Given the description of an element on the screen output the (x, y) to click on. 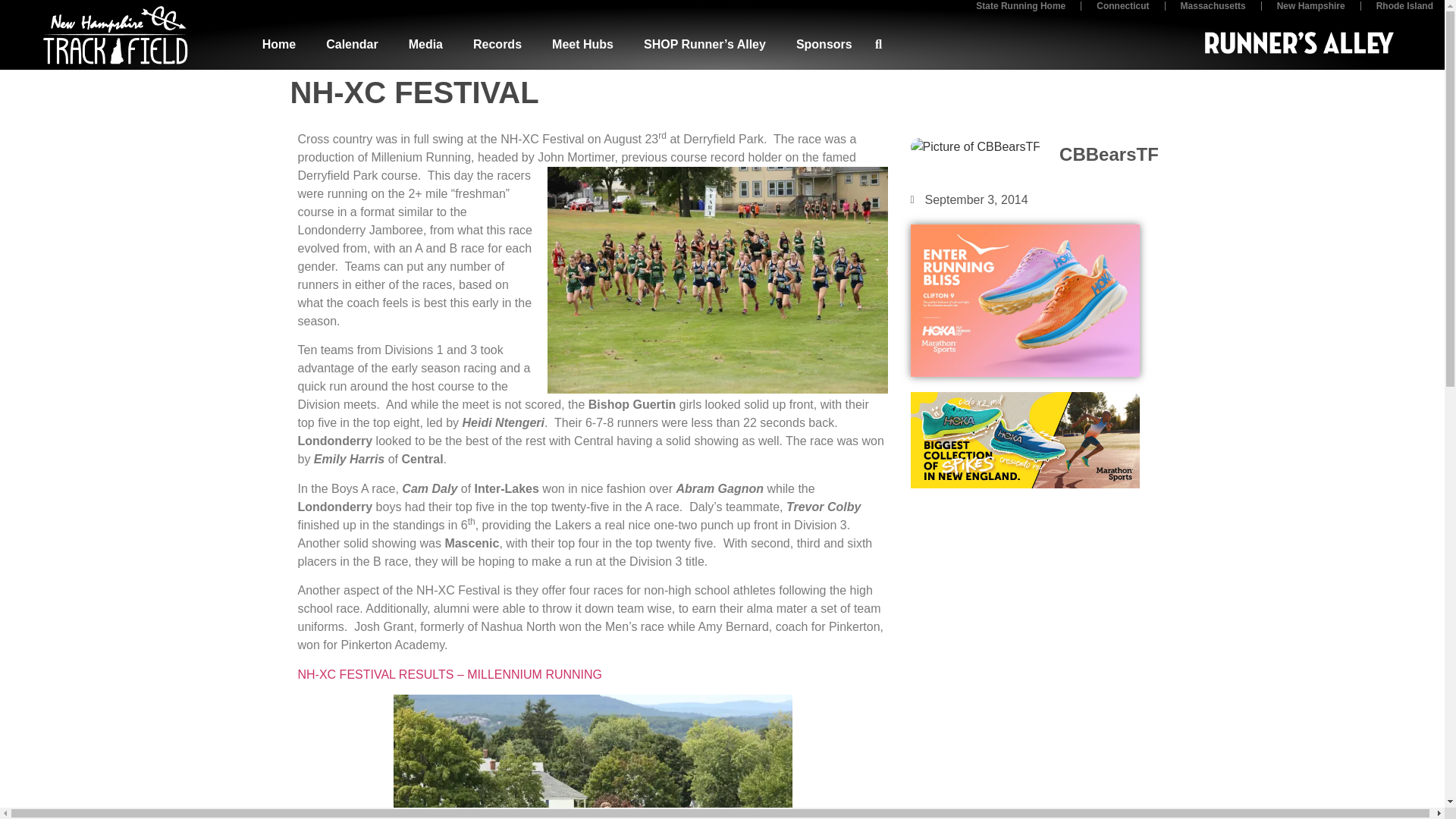
Home (279, 44)
Records (497, 44)
Meet Hubs (582, 44)
State Running Home (1020, 11)
New Hampshire (1310, 11)
Massachusetts (1213, 11)
Media (425, 44)
Connecticut (1122, 11)
Calendar (352, 44)
